Given the description of an element on the screen output the (x, y) to click on. 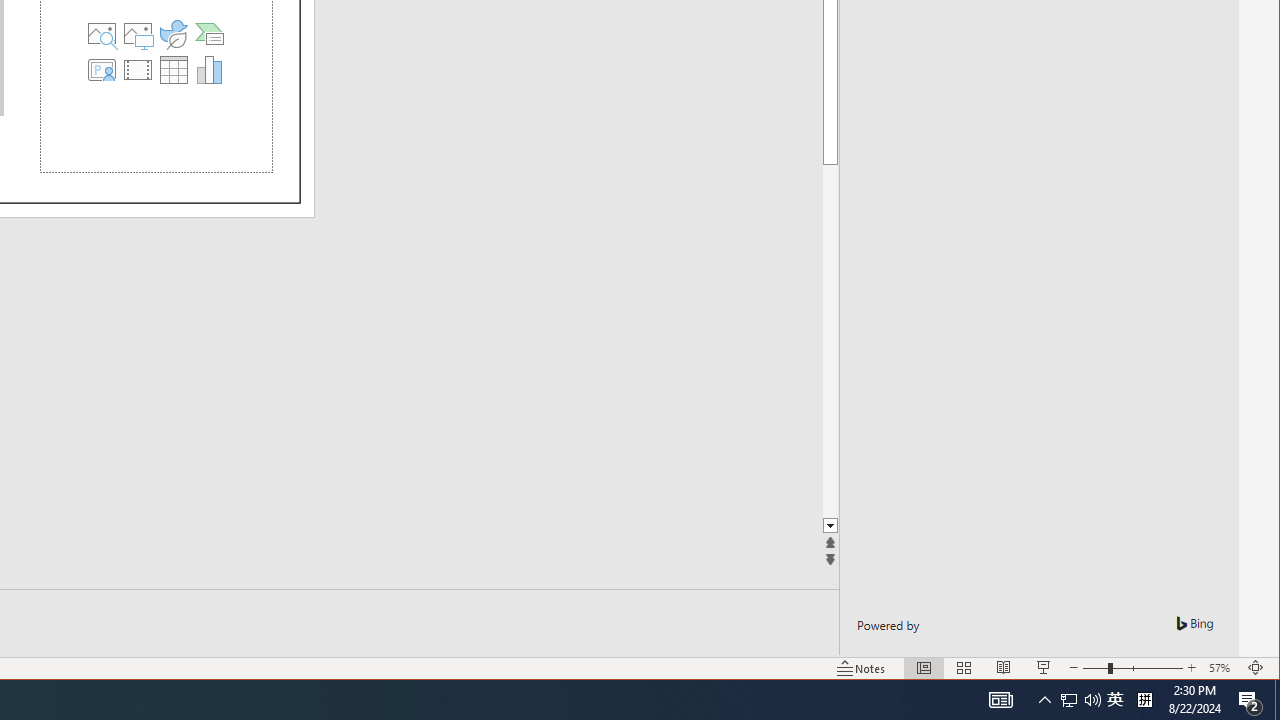
Zoom 57% (1222, 668)
Insert Video (137, 69)
Insert Table (173, 69)
Stock Images (101, 33)
